Given the description of an element on the screen output the (x, y) to click on. 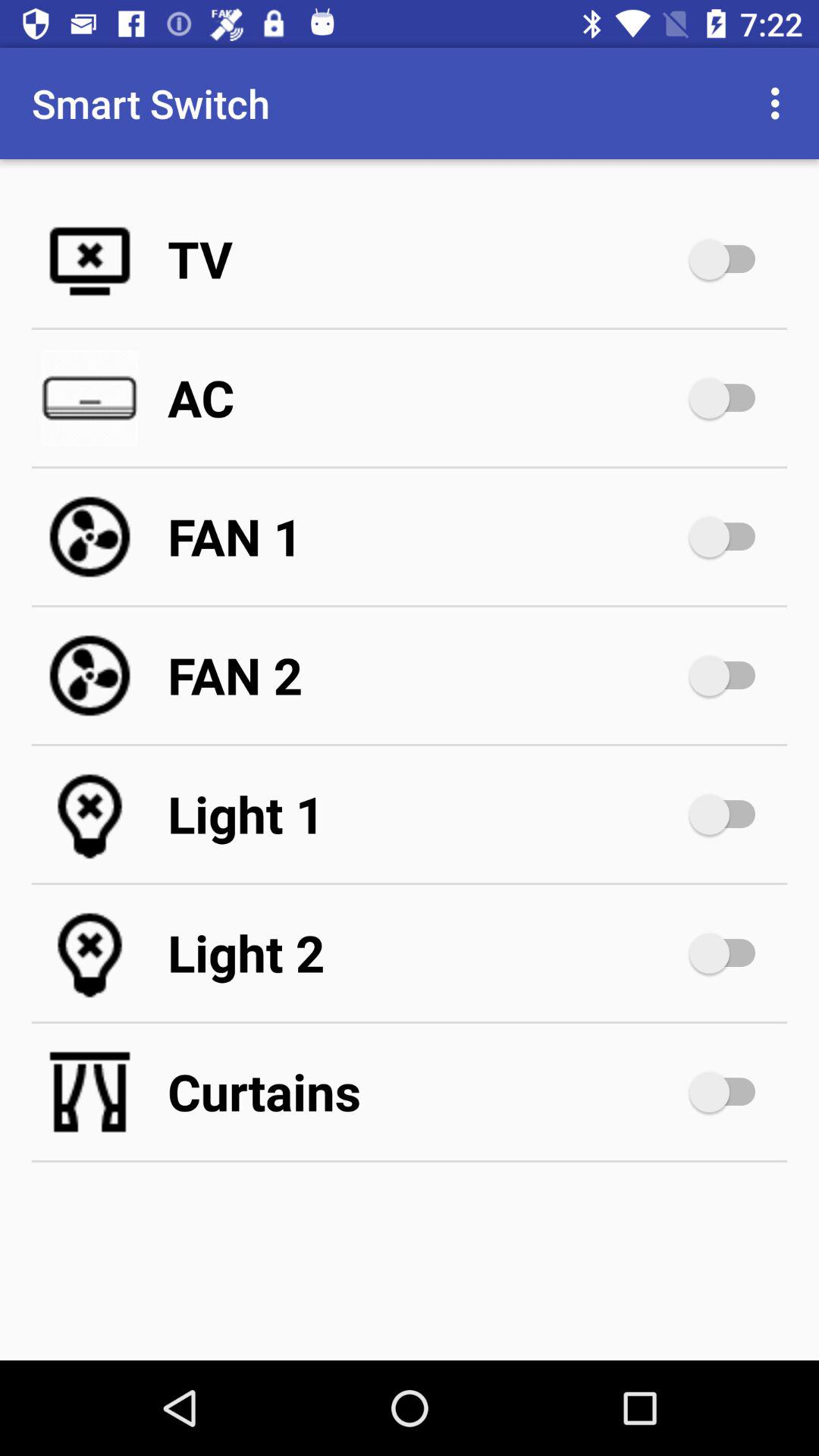
toggle curtains (729, 1091)
